Given the description of an element on the screen output the (x, y) to click on. 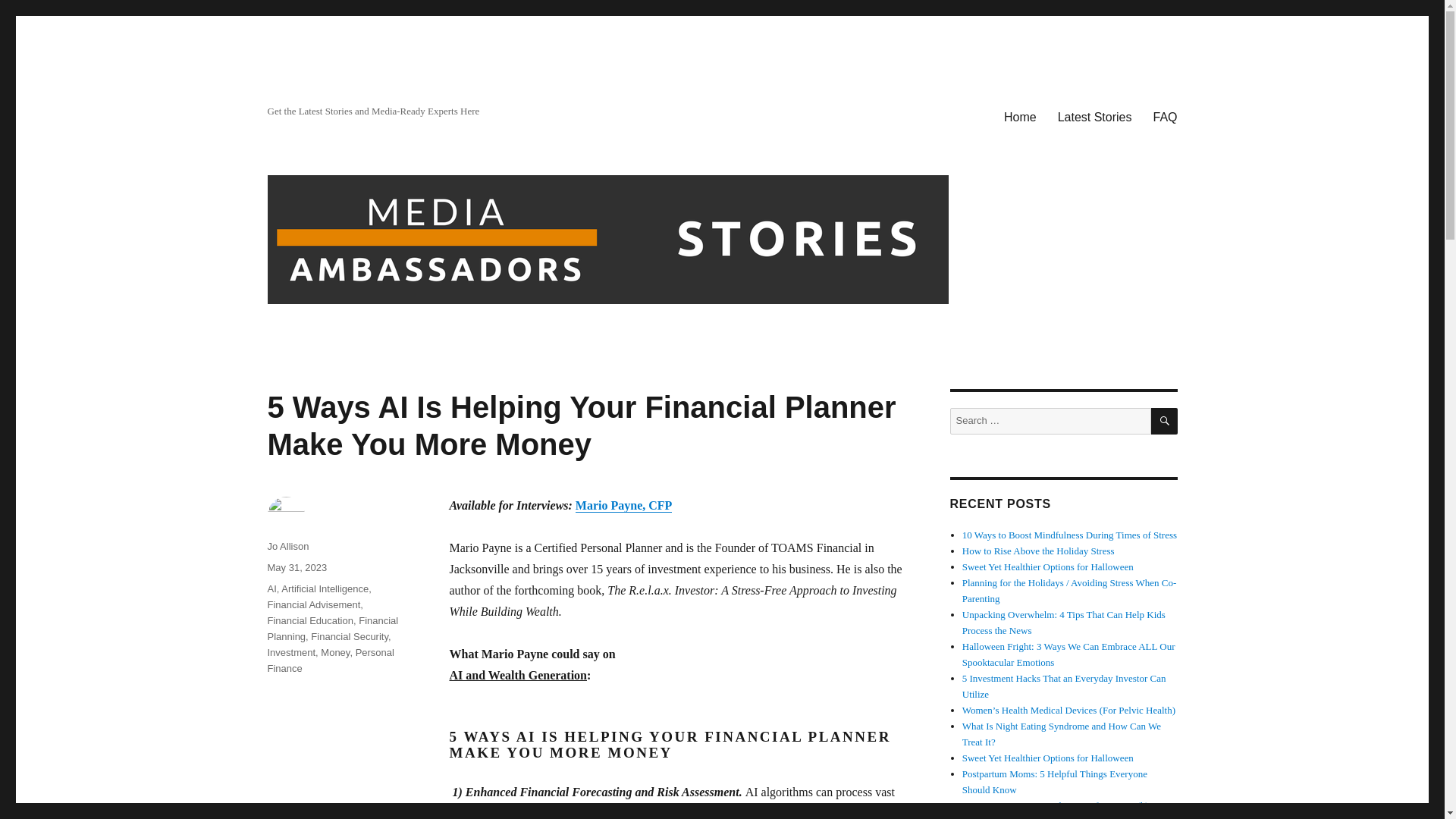
Personal Finance (329, 660)
Postpartum Moms: 5 Helpful Things Everyone Should Know (1054, 781)
Latest Stories (1094, 116)
Investment (290, 652)
Financial Security (349, 636)
FAQ (1164, 116)
SEARCH (1164, 420)
What Is Night Eating Syndrome and How Can We Treat It? (1061, 733)
May 31, 2023 (296, 567)
Money (334, 652)
